Given the description of an element on the screen output the (x, y) to click on. 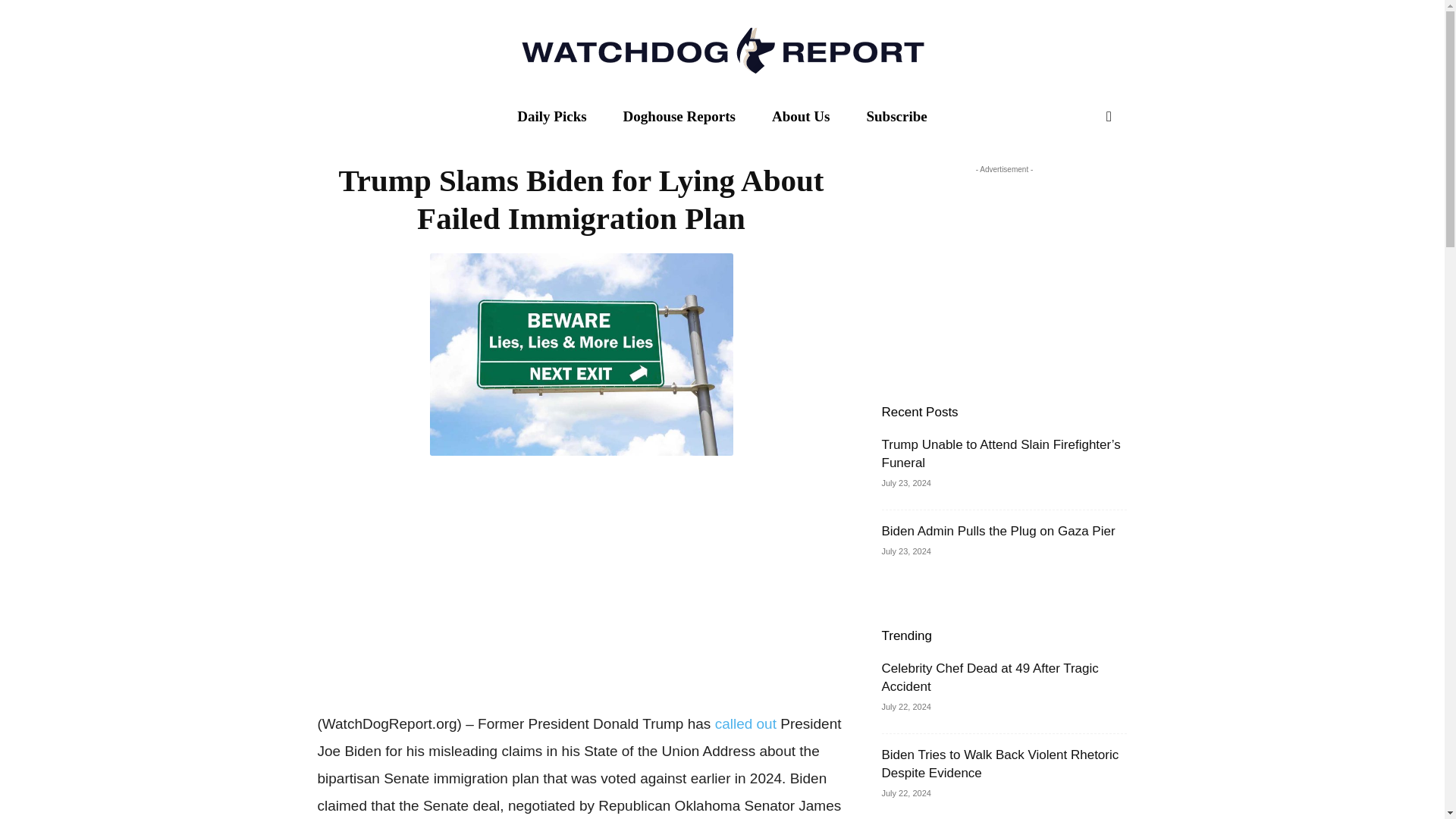
Subscribe (895, 116)
Daily Picks (551, 116)
About Us (801, 116)
called out (745, 723)
Green,Overhead,Road,Sign,With,A,Beware,Of,Lies,,Lies (580, 354)
Search (1077, 177)
Doghouse Reports (679, 116)
Advertisement (580, 580)
